Given the description of an element on the screen output the (x, y) to click on. 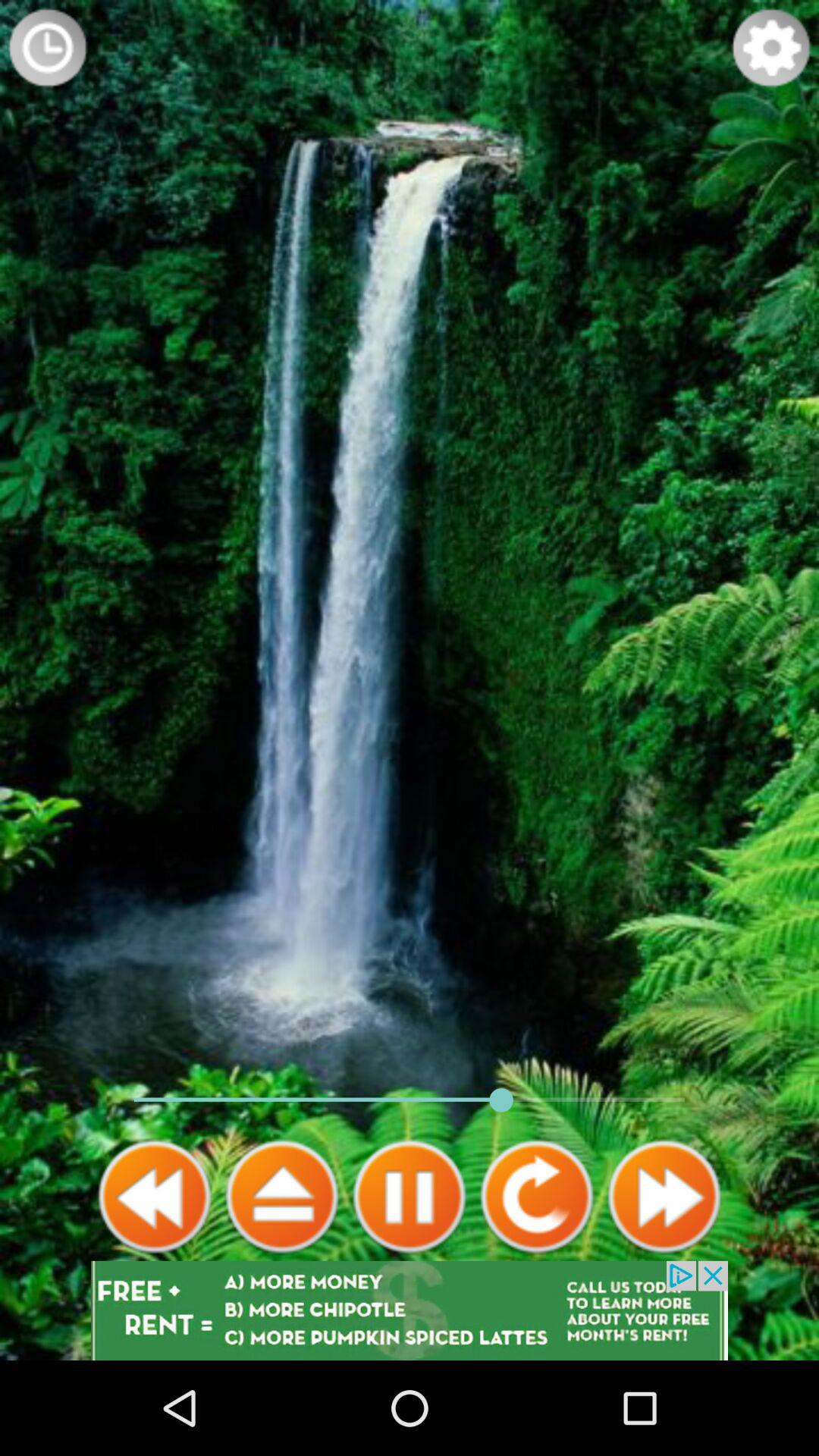
go to advertisement link (409, 1310)
